Given the description of an element on the screen output the (x, y) to click on. 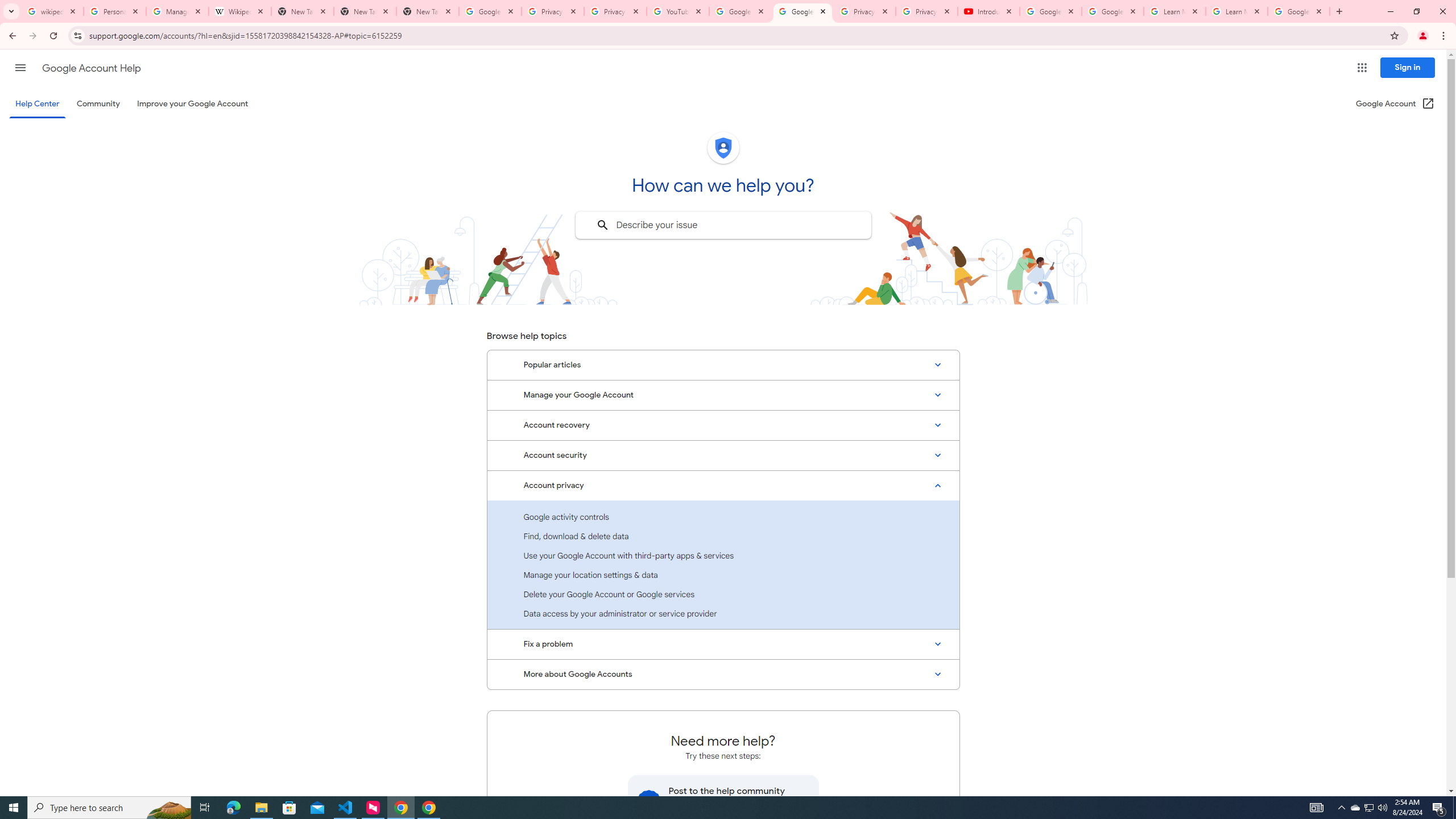
Google Account Help (91, 68)
YouTube (678, 11)
Google Account Help (1111, 11)
Manage your Location History - Google Search Help (177, 11)
Personalization & Google Search results - Google Search Help (114, 11)
Account recovery (722, 425)
Use your Google Account with third-party apps & services (722, 555)
